Given the description of an element on the screen output the (x, y) to click on. 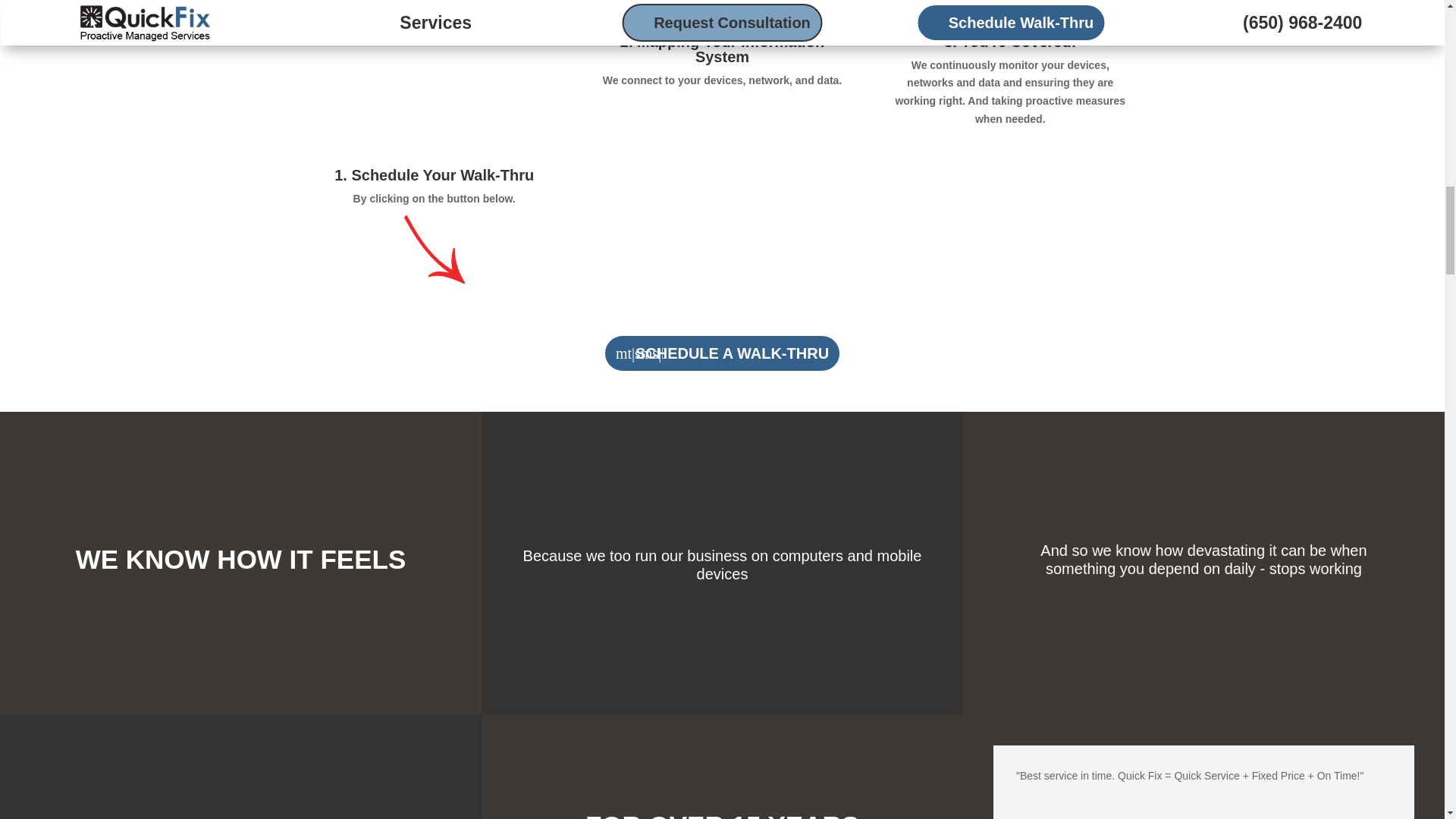
SCHEDULE A WALK-THRU (722, 353)
